Given the description of an element on the screen output the (x, y) to click on. 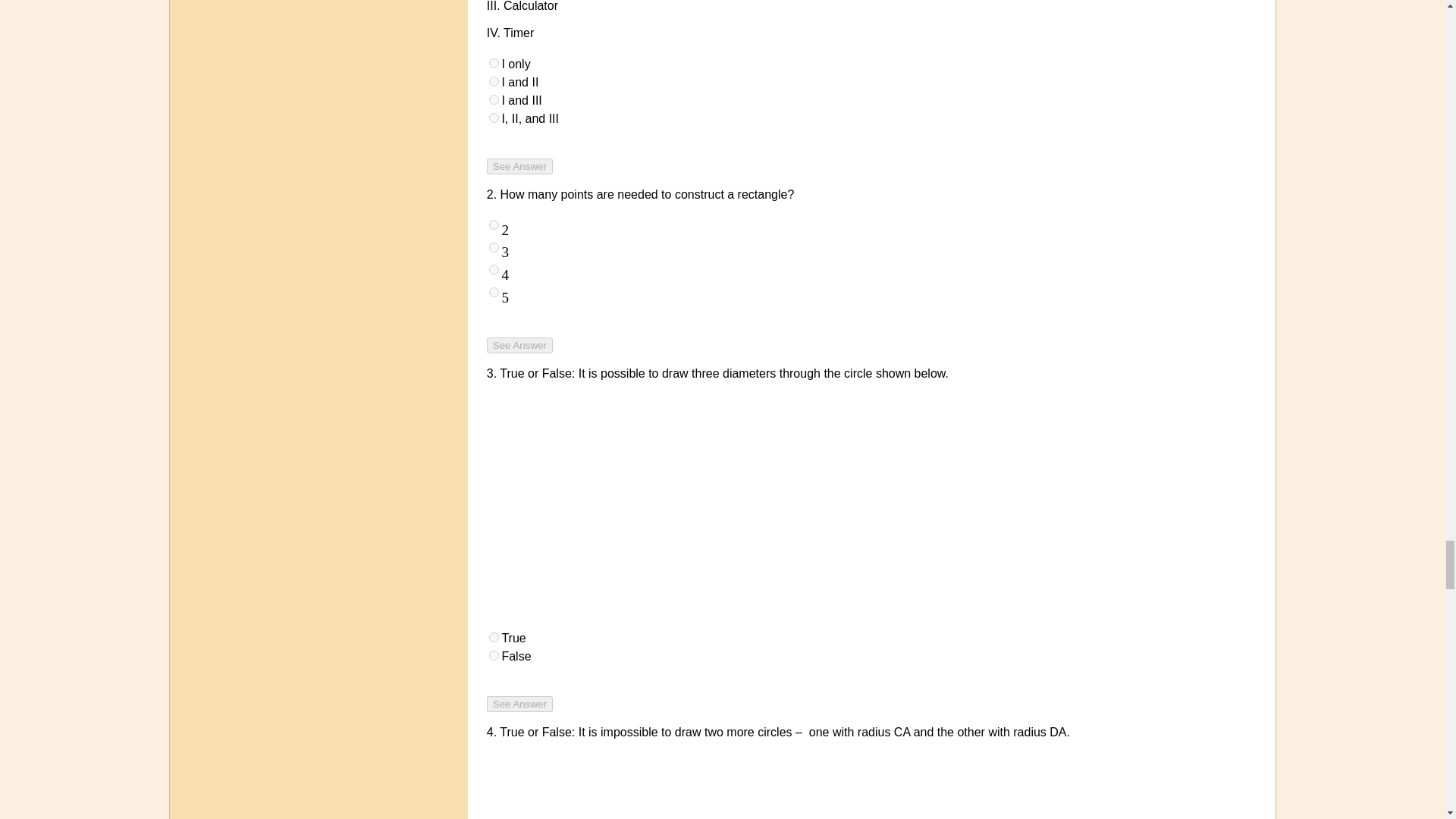
7337 (494, 637)
See Answer (519, 344)
7419 (494, 62)
7424 (494, 247)
See Answer (519, 703)
7423 (494, 225)
See Answer (519, 166)
7420 (494, 81)
7426 (494, 292)
7338 (494, 655)
